Given the description of an element on the screen output the (x, y) to click on. 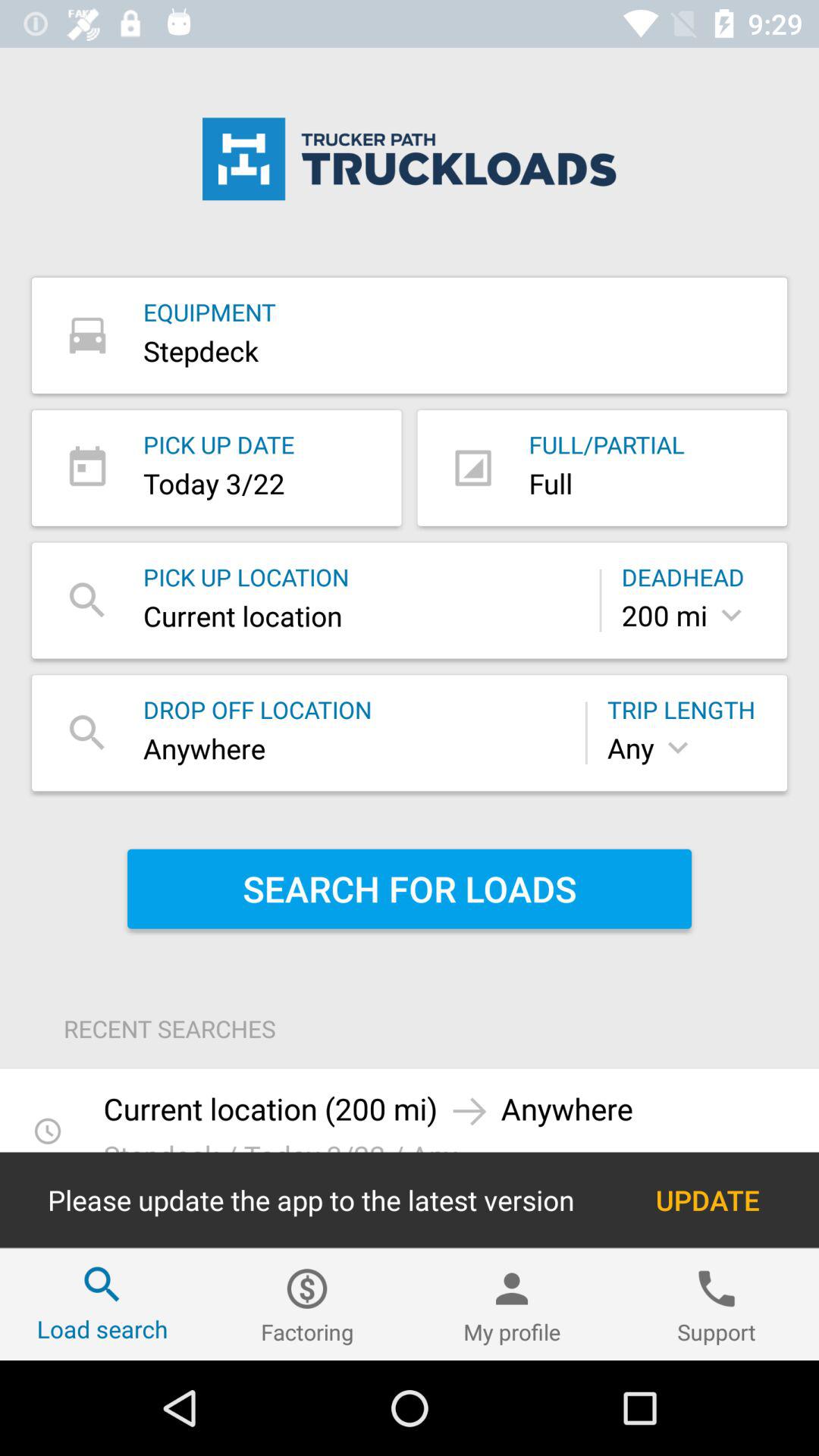
select item to the right of the my profile item (716, 1304)
